Given the description of an element on the screen output the (x, y) to click on. 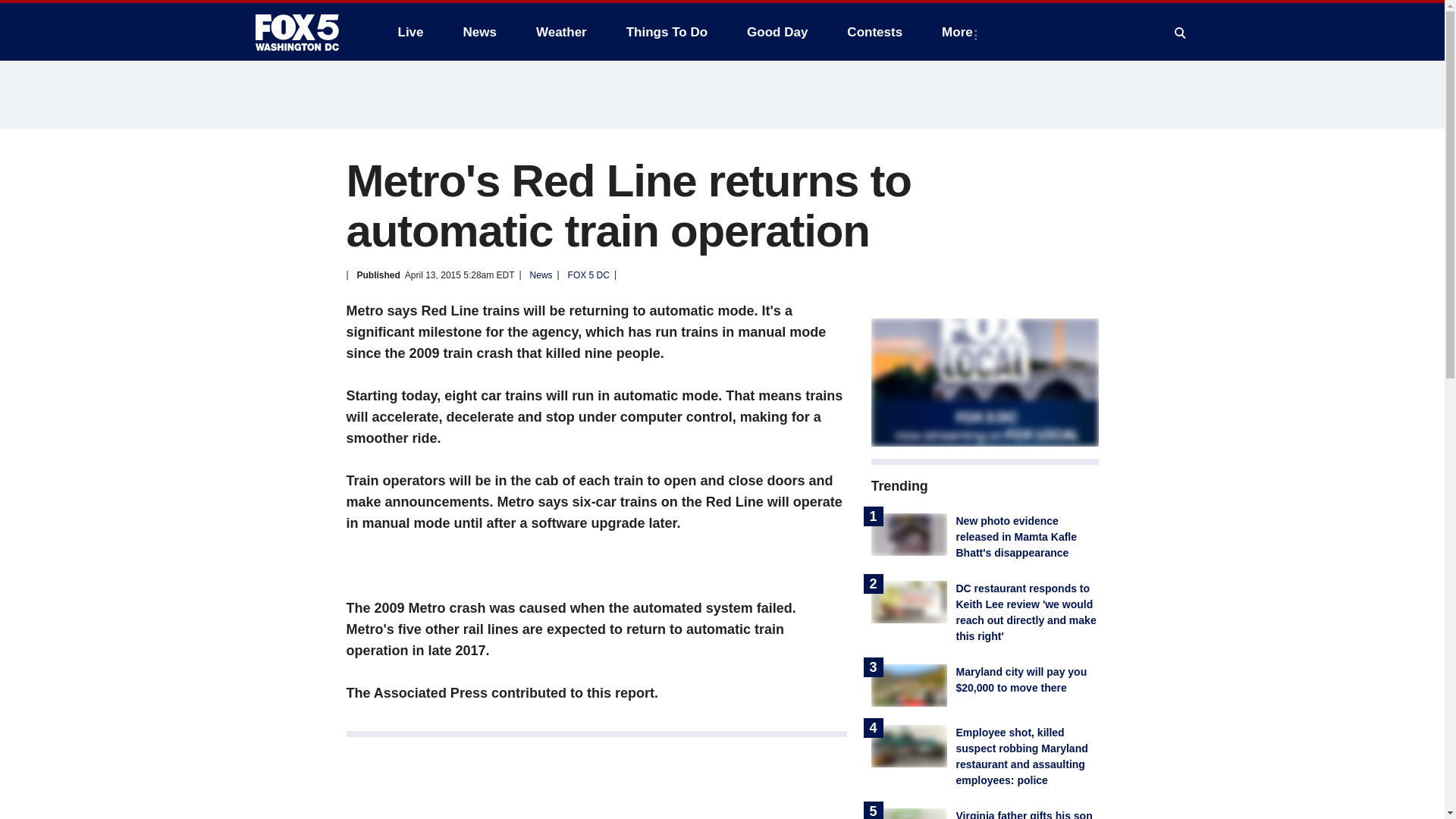
Good Day (777, 32)
Things To Do (666, 32)
Contests (874, 32)
Weather (561, 32)
Live (410, 32)
More (960, 32)
News (479, 32)
